Given the description of an element on the screen output the (x, y) to click on. 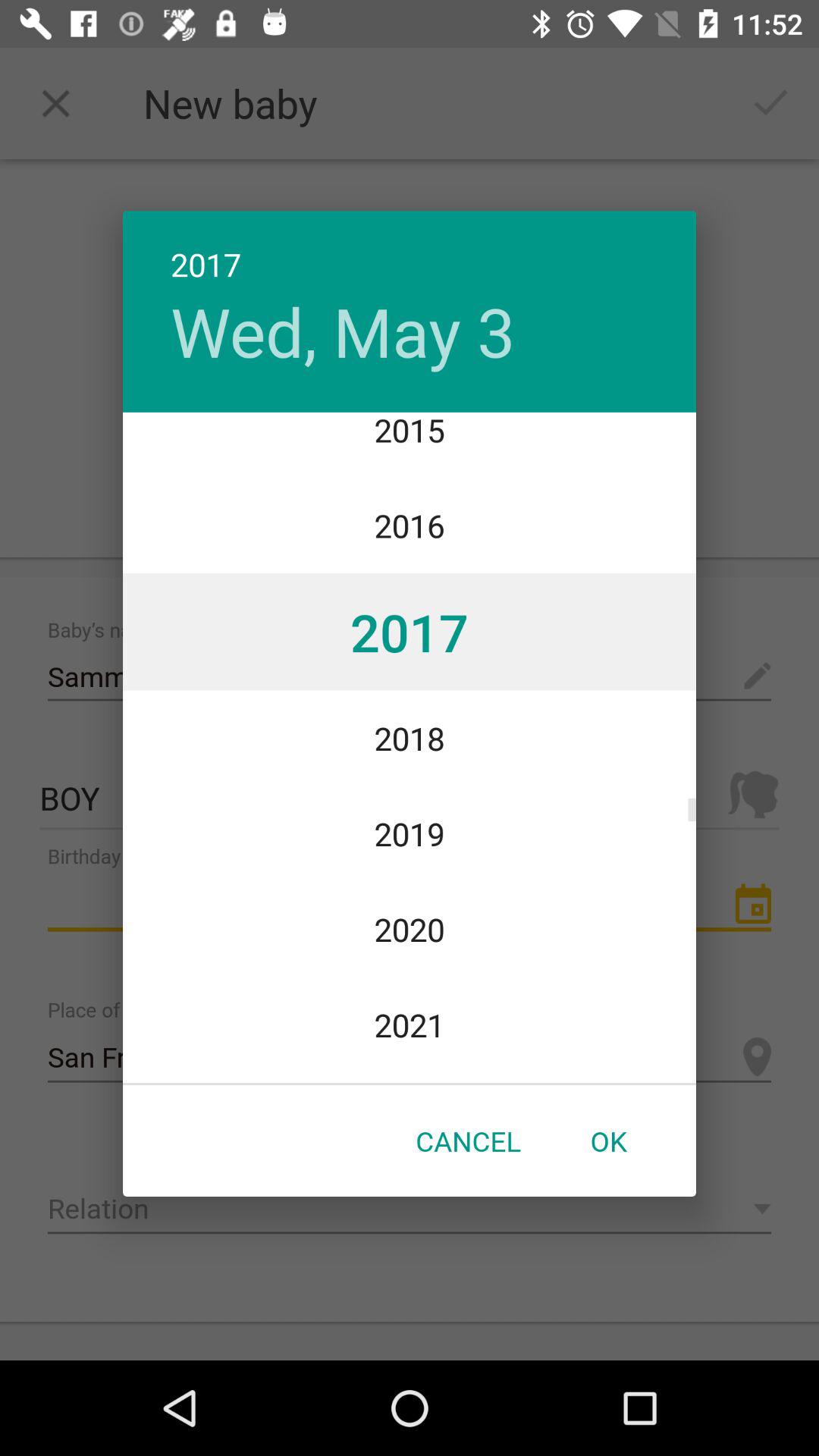
launch the item below the 2017 item (342, 331)
